Given the description of an element on the screen output the (x, y) to click on. 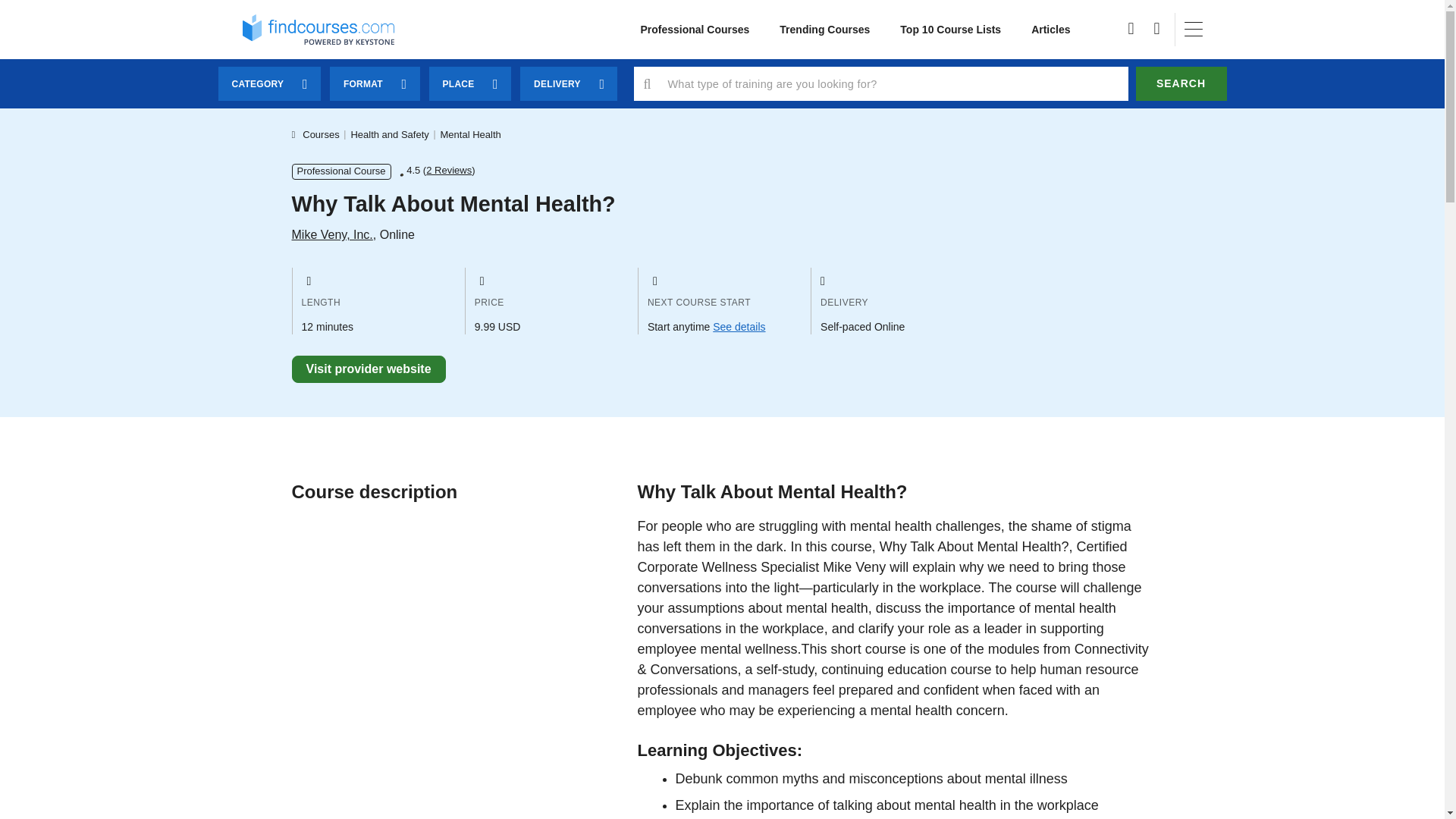
Search (1181, 83)
Trending Courses (824, 29)
findcourses.com homepage (318, 28)
Search (1181, 83)
Articles (1050, 29)
Top 10 Course Lists (950, 29)
All course categories (694, 29)
